Given the description of an element on the screen output the (x, y) to click on. 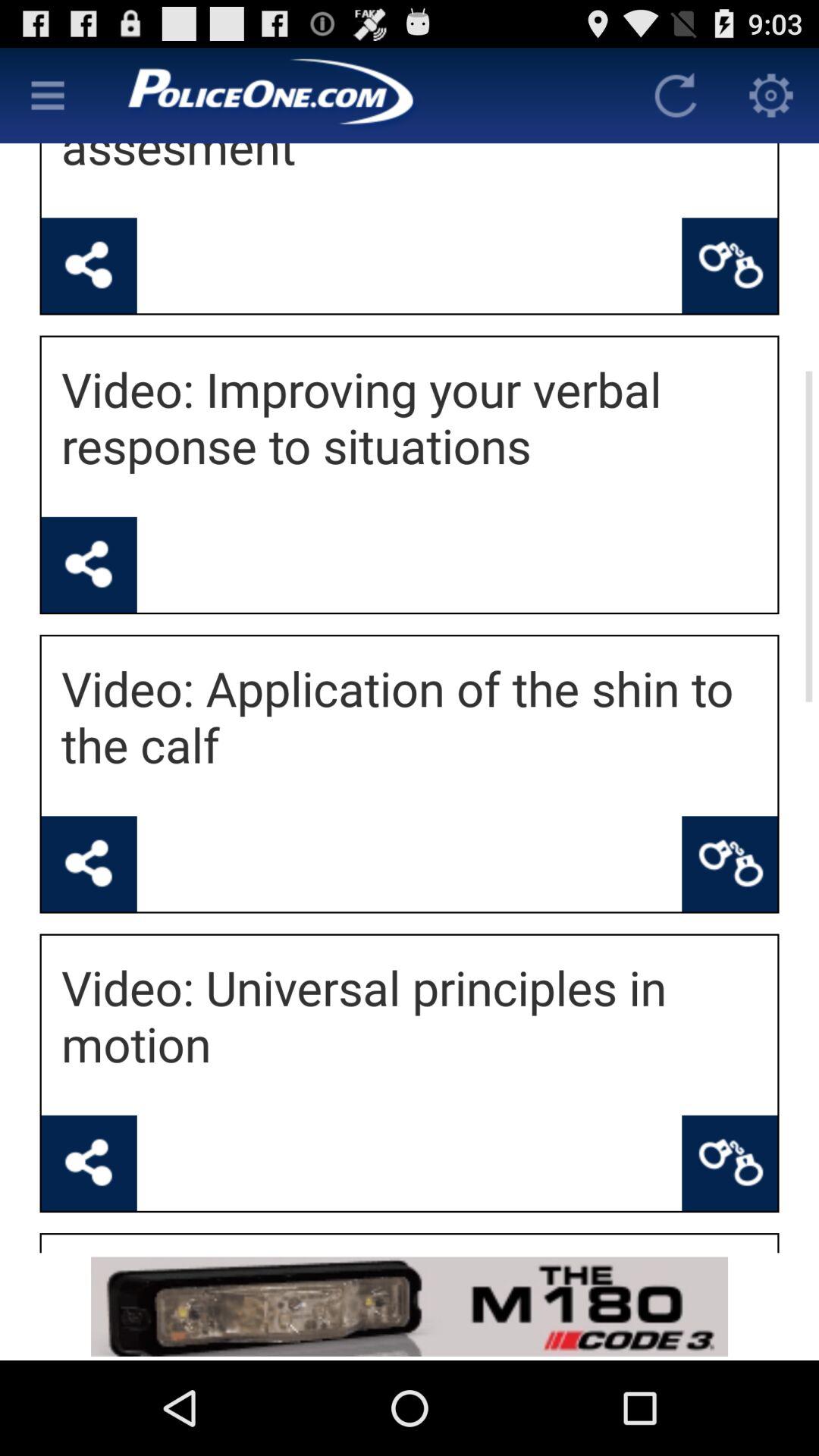
refresh the page (675, 95)
